Given the description of an element on the screen output the (x, y) to click on. 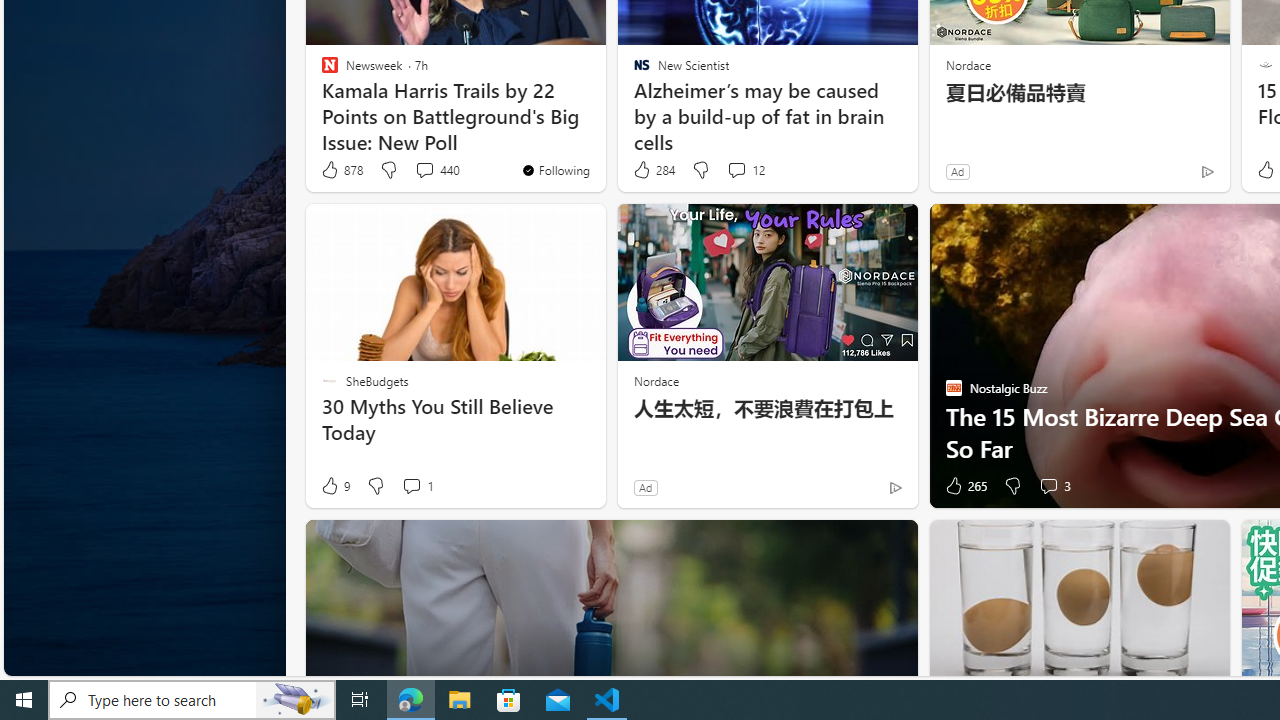
You're following Newsweek (555, 169)
View comments 12 Comment (736, 169)
View comments 3 Comment (1054, 485)
265 Like (964, 485)
View comments 440 Comment (436, 170)
View comments 1 Comment (416, 485)
View comments 12 Comment (745, 170)
9 Like (334, 485)
878 Like (341, 170)
View comments 1 Comment (411, 485)
